Given the description of an element on the screen output the (x, y) to click on. 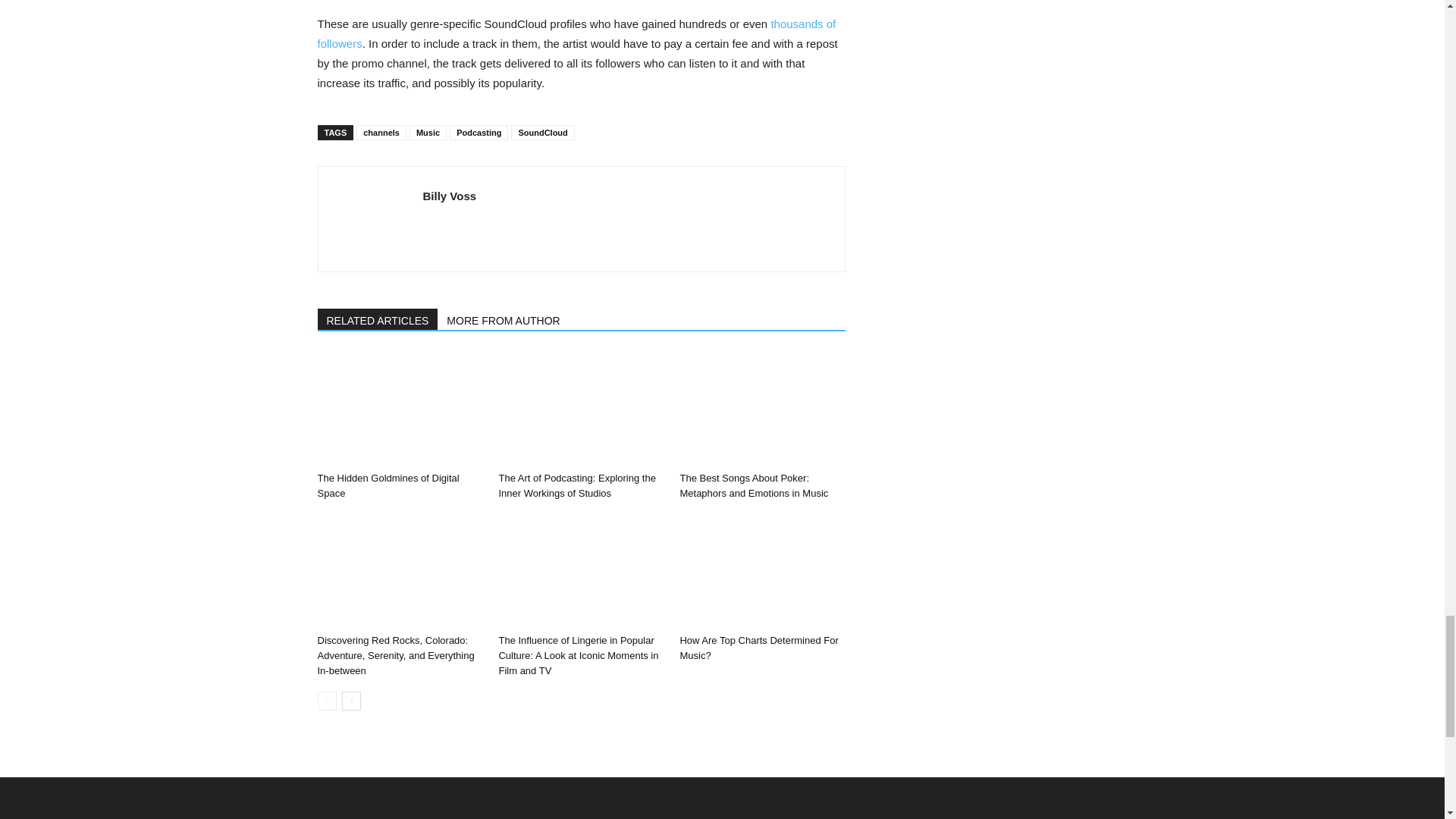
The Hidden Goldmines of Digital Space (387, 485)
SoundCloud (542, 132)
Music (427, 132)
The Best Songs About Poker: Metaphors and Emotions in Music (753, 485)
channels (381, 132)
Podcasting (478, 132)
The Hidden Goldmines of Digital Space (399, 409)
thousands of followers (576, 33)
The Best Songs About Poker: Metaphors and Emotions in Music (761, 409)
